Given the description of an element on the screen output the (x, y) to click on. 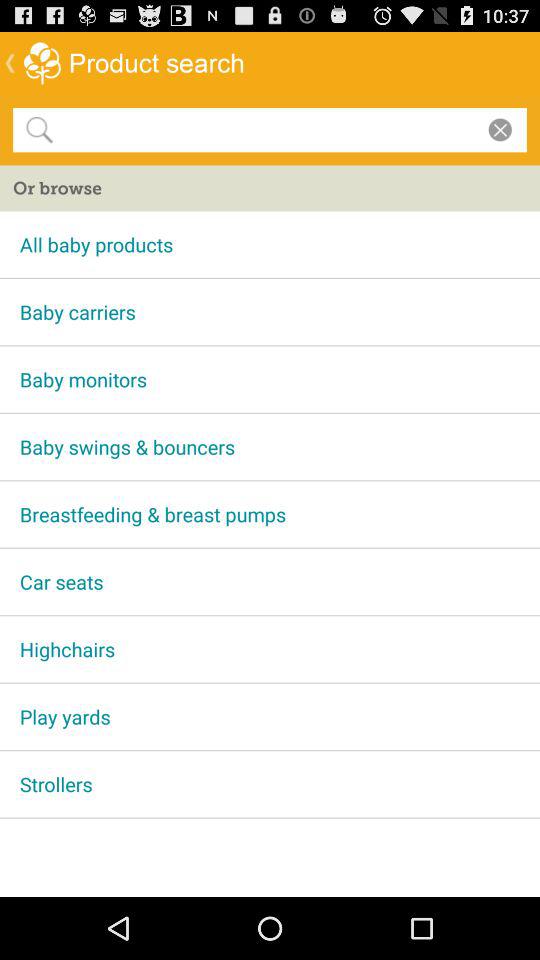
search option (266, 129)
